Given the description of an element on the screen output the (x, y) to click on. 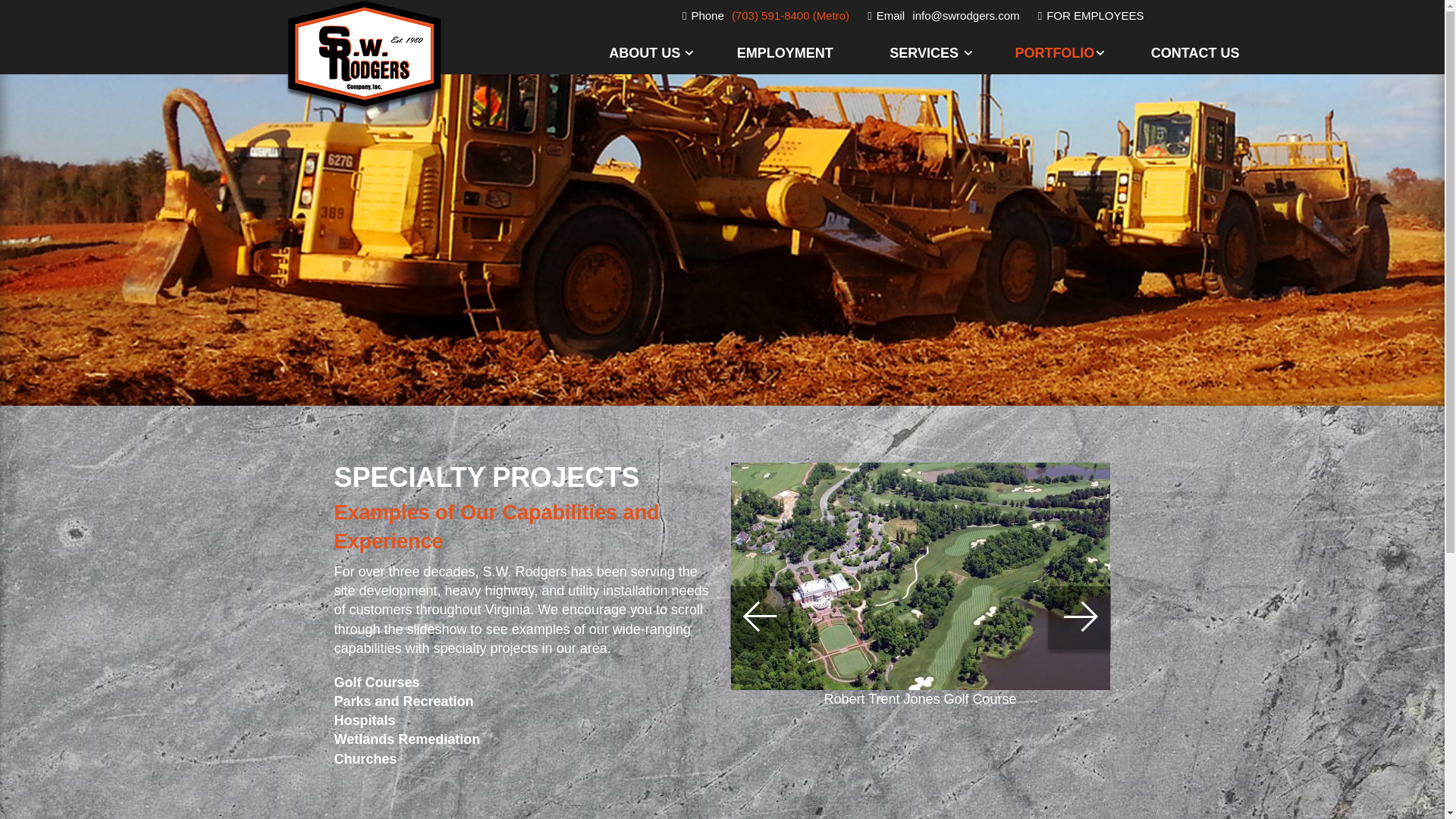
FOR EMPLOYEES (1094, 15)
Safety (670, 192)
News And Updates (670, 149)
SERVICES (950, 52)
ABOUT US (670, 52)
Leadership Team (670, 99)
EMPLOYMENT (811, 52)
